Given the description of an element on the screen output the (x, y) to click on. 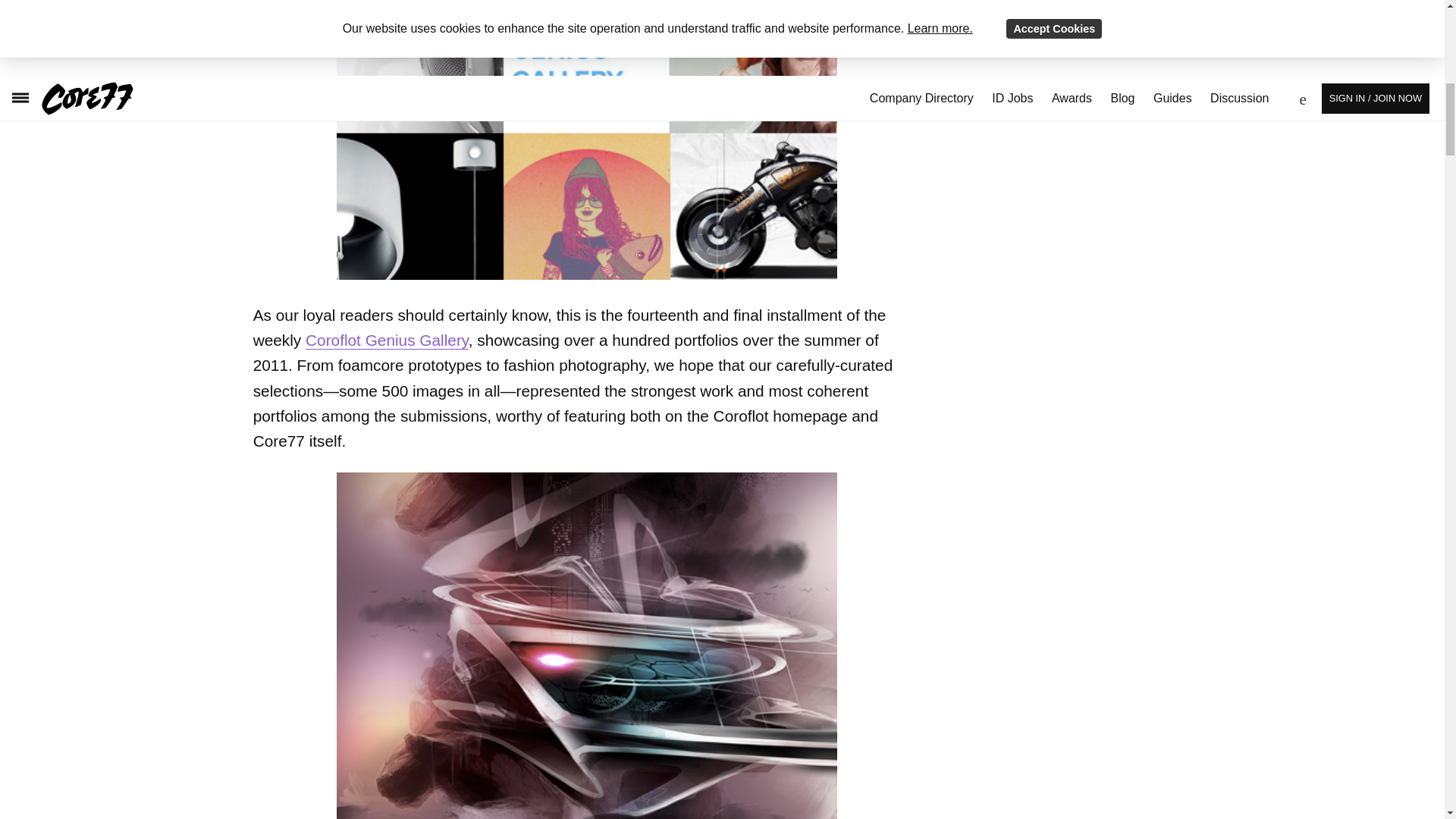
Coroflot Genius Gallery (386, 340)
